Given the description of an element on the screen output the (x, y) to click on. 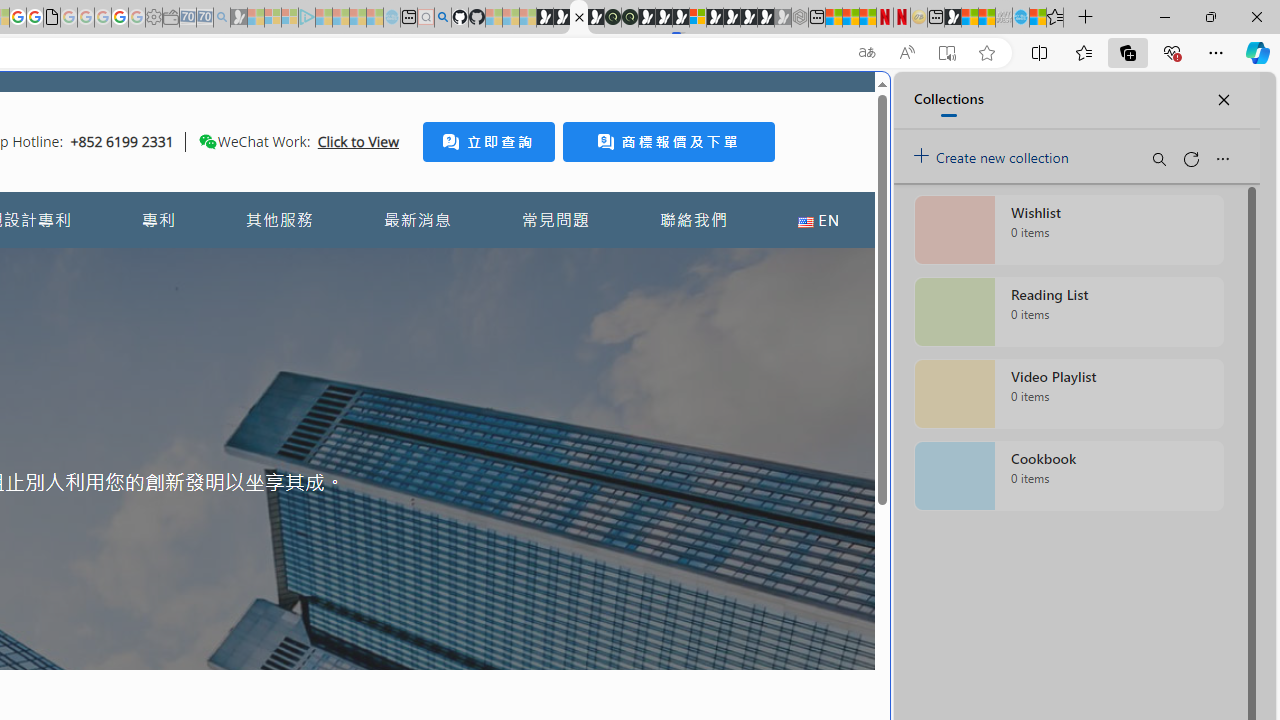
Show translate options (867, 53)
MSN (952, 17)
Home | Sky Blue Bikes - Sky Blue Bikes (687, 426)
EN (818, 220)
Wallet - Sleeping (170, 17)
Cheap Car Rentals - Save70.com - Sleeping (204, 17)
World - MSN (969, 17)
